Given the description of an element on the screen output the (x, y) to click on. 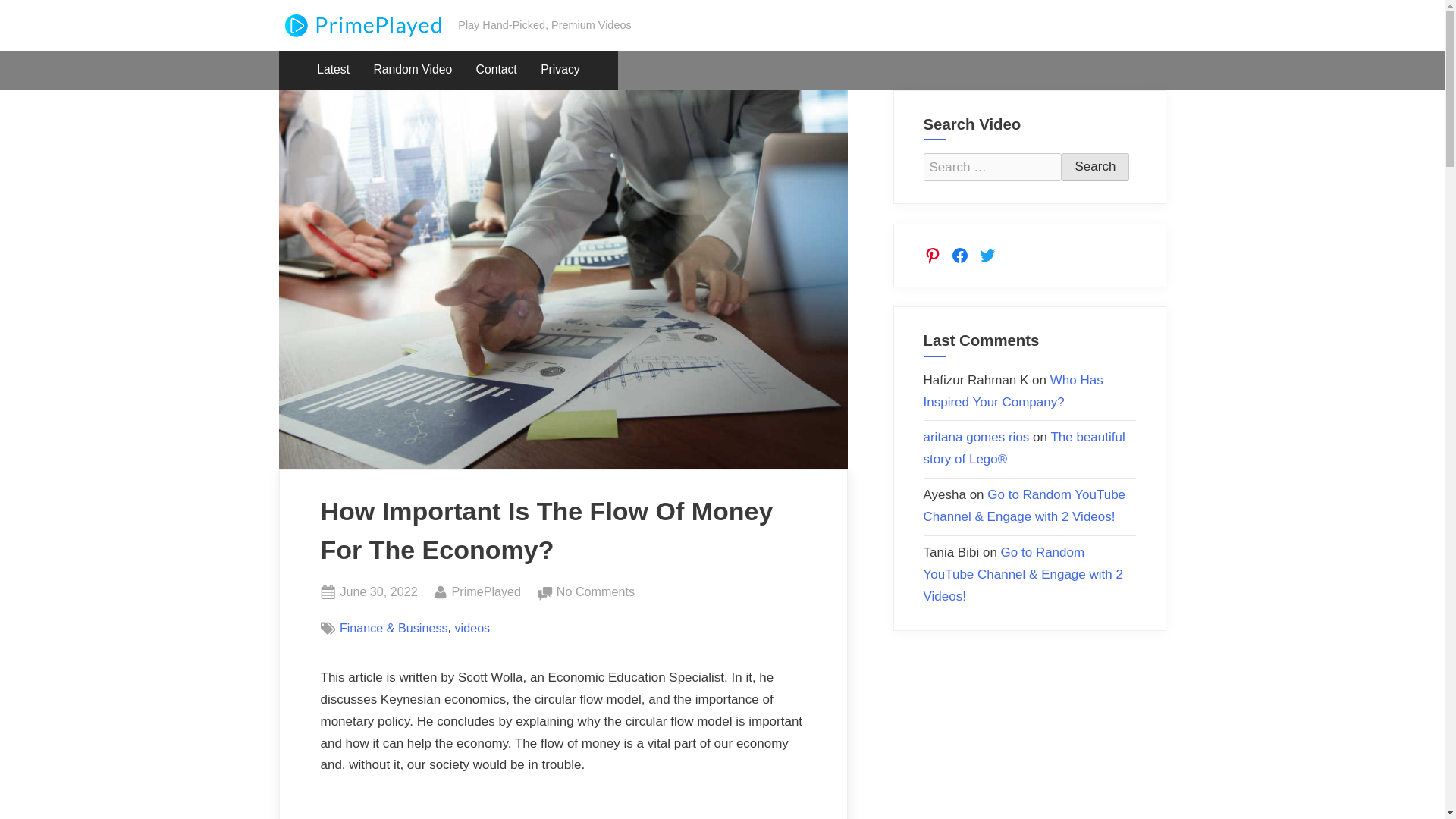
Latest (333, 69)
Contact (496, 69)
Search (1095, 167)
Privacy (486, 591)
videos (560, 69)
Random Video (472, 627)
Search (412, 69)
